Given the description of an element on the screen output the (x, y) to click on. 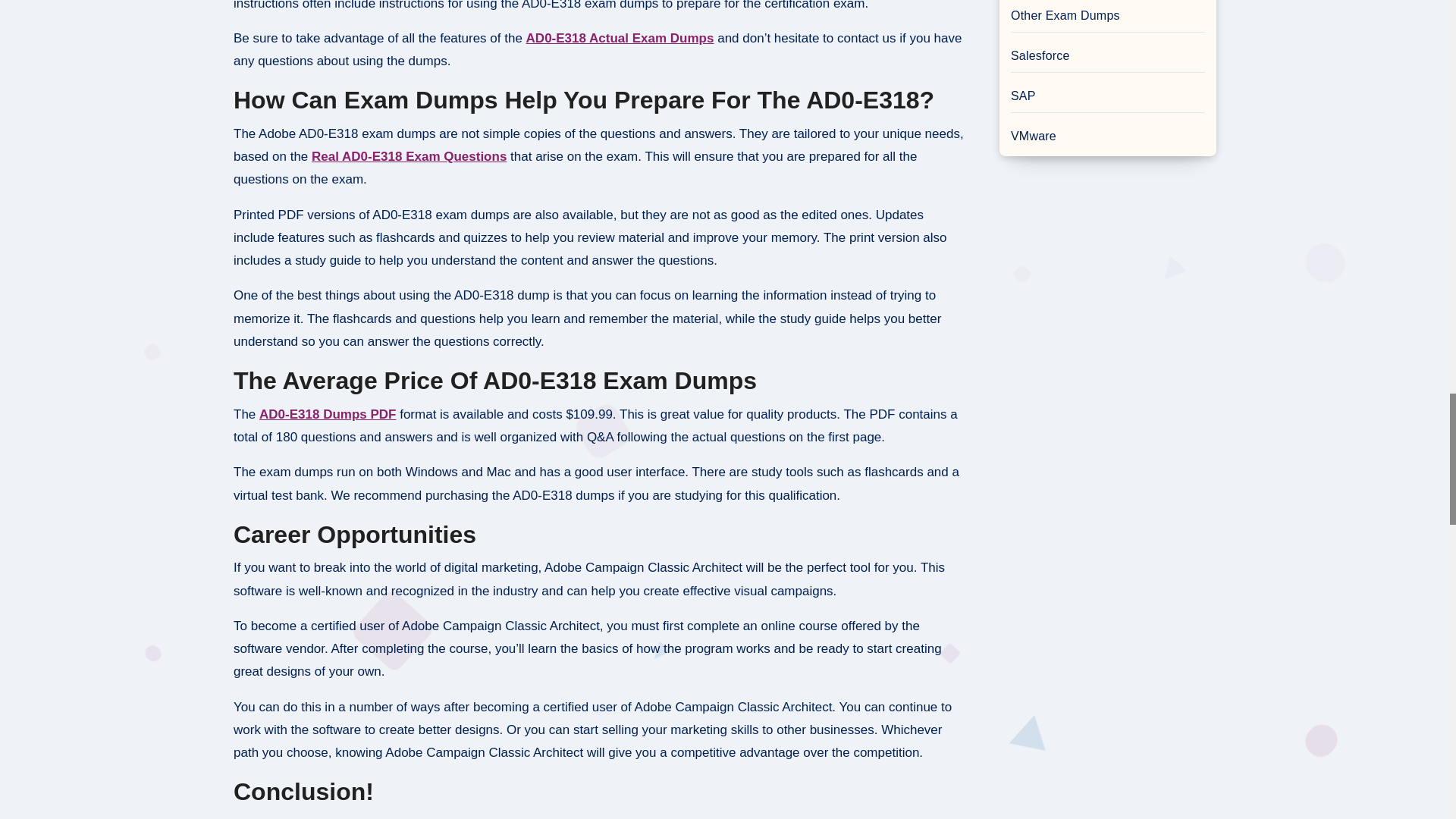
Real AD0-E318 Exam Questions (408, 156)
AD0-E318 Dumps PDF (327, 414)
AD0-E318 Actual Exam Dumps (619, 38)
